Given the description of an element on the screen output the (x, y) to click on. 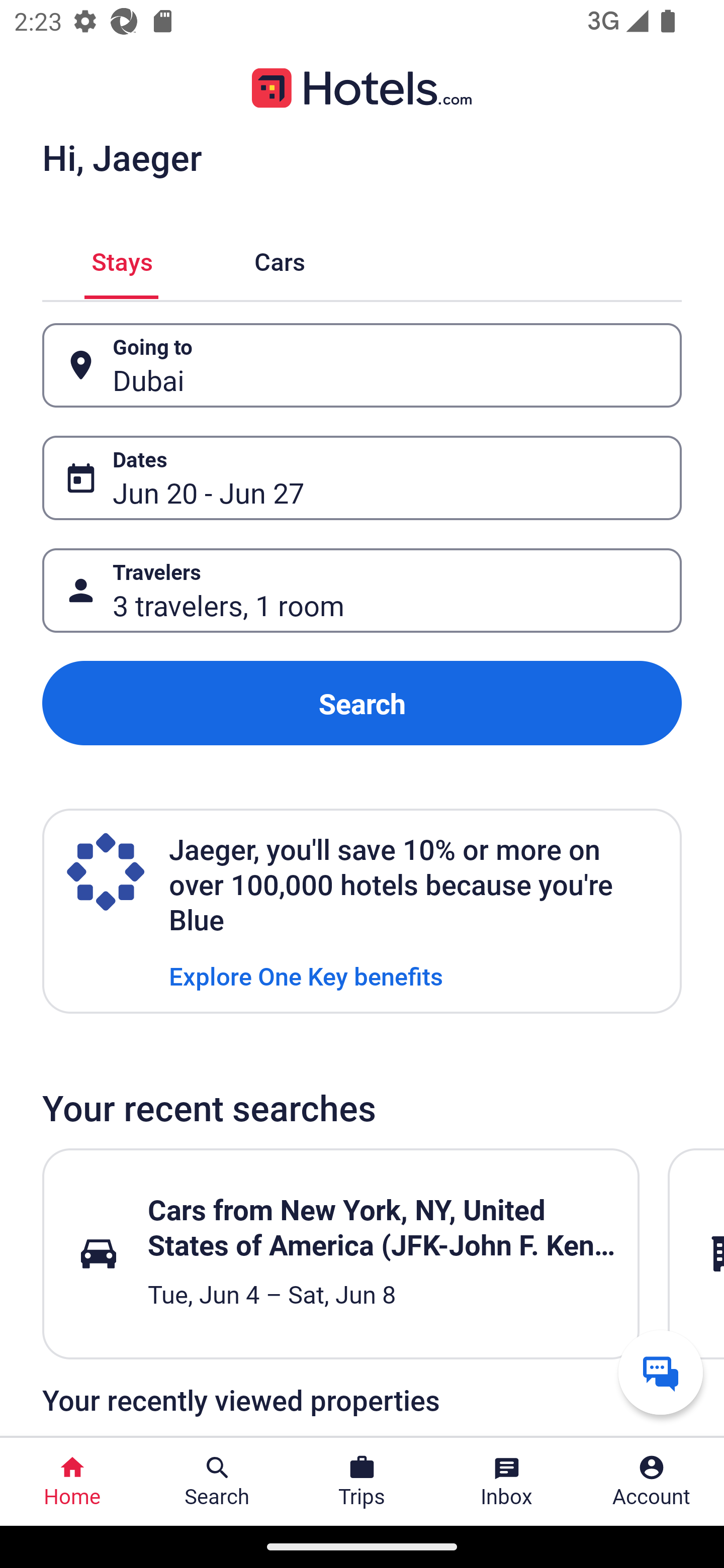
Hi, Jaeger (121, 156)
Cars (279, 259)
Going to Button Dubai (361, 365)
Dates Button Jun 20 - Jun 27 (361, 477)
Travelers Button 3 travelers, 1 room (361, 590)
Search (361, 702)
Get help from a virtual agent (660, 1371)
Search Search Button (216, 1481)
Trips Trips Button (361, 1481)
Inbox Inbox Button (506, 1481)
Account Profile. Button (651, 1481)
